Given the description of an element on the screen output the (x, y) to click on. 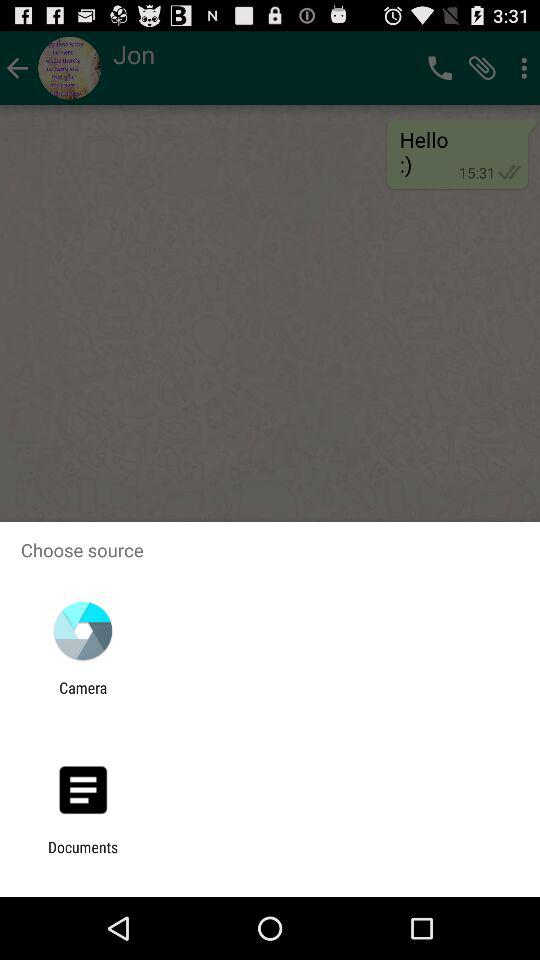
turn off documents (83, 856)
